Given the description of an element on the screen output the (x, y) to click on. 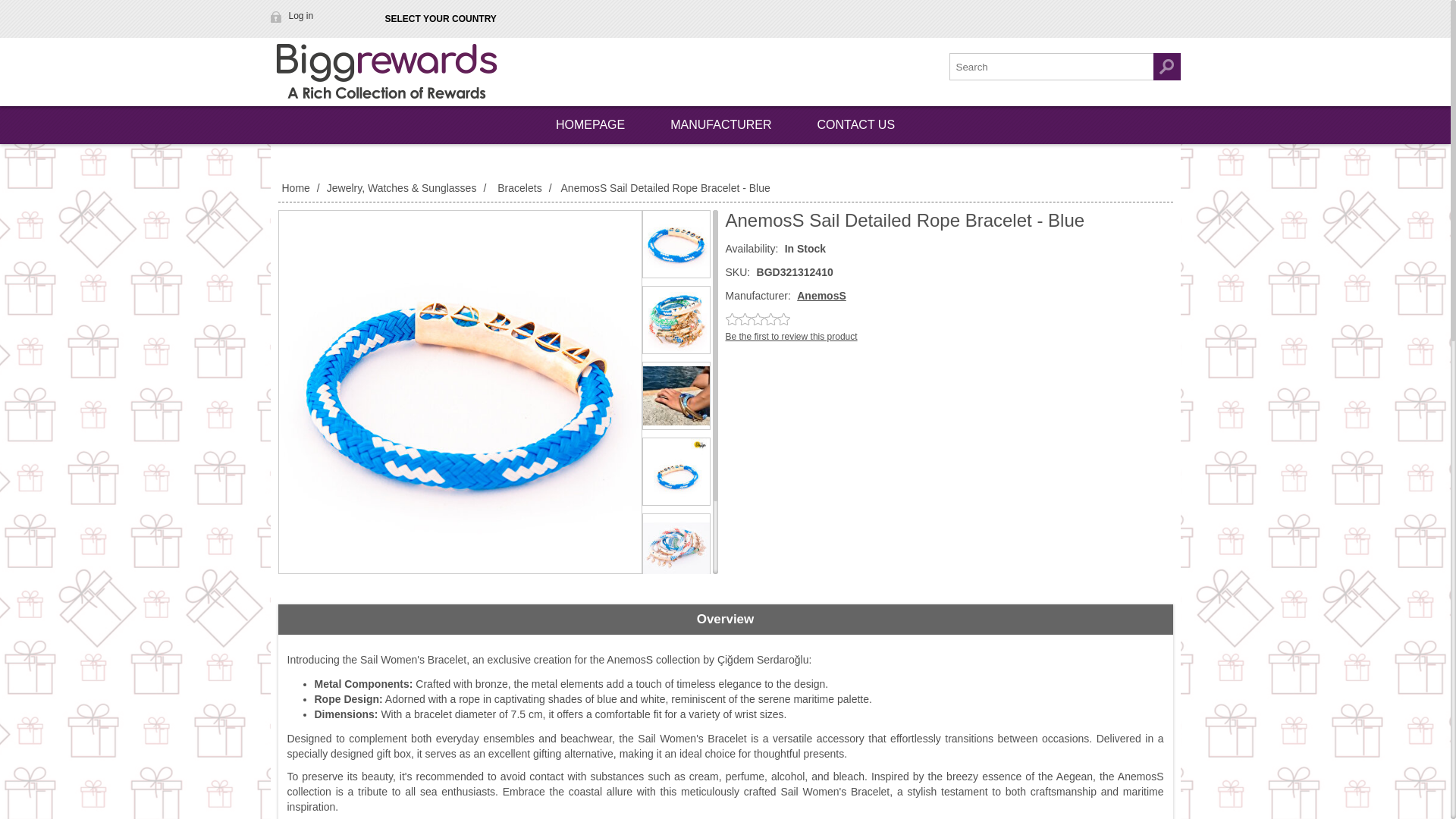
media.product.imagelinktitleformat.details (676, 319)
SELECT YOUR COUNTRY (440, 19)
media.product.imagelinktitleformat.details (676, 395)
Search (1166, 66)
Log in (293, 15)
media.product.imagelinktitleformat.details (676, 243)
media.product.imagelinktitleformat.details (676, 471)
Search (1166, 66)
HomePage (589, 125)
media.product.imagelinktitleformat.details (676, 547)
media.product.imagelinktitleformat.details (460, 391)
media.product.imagelinktitleformat.details (676, 622)
Manufacturer (720, 125)
Contact Us (856, 125)
